Given the description of an element on the screen output the (x, y) to click on. 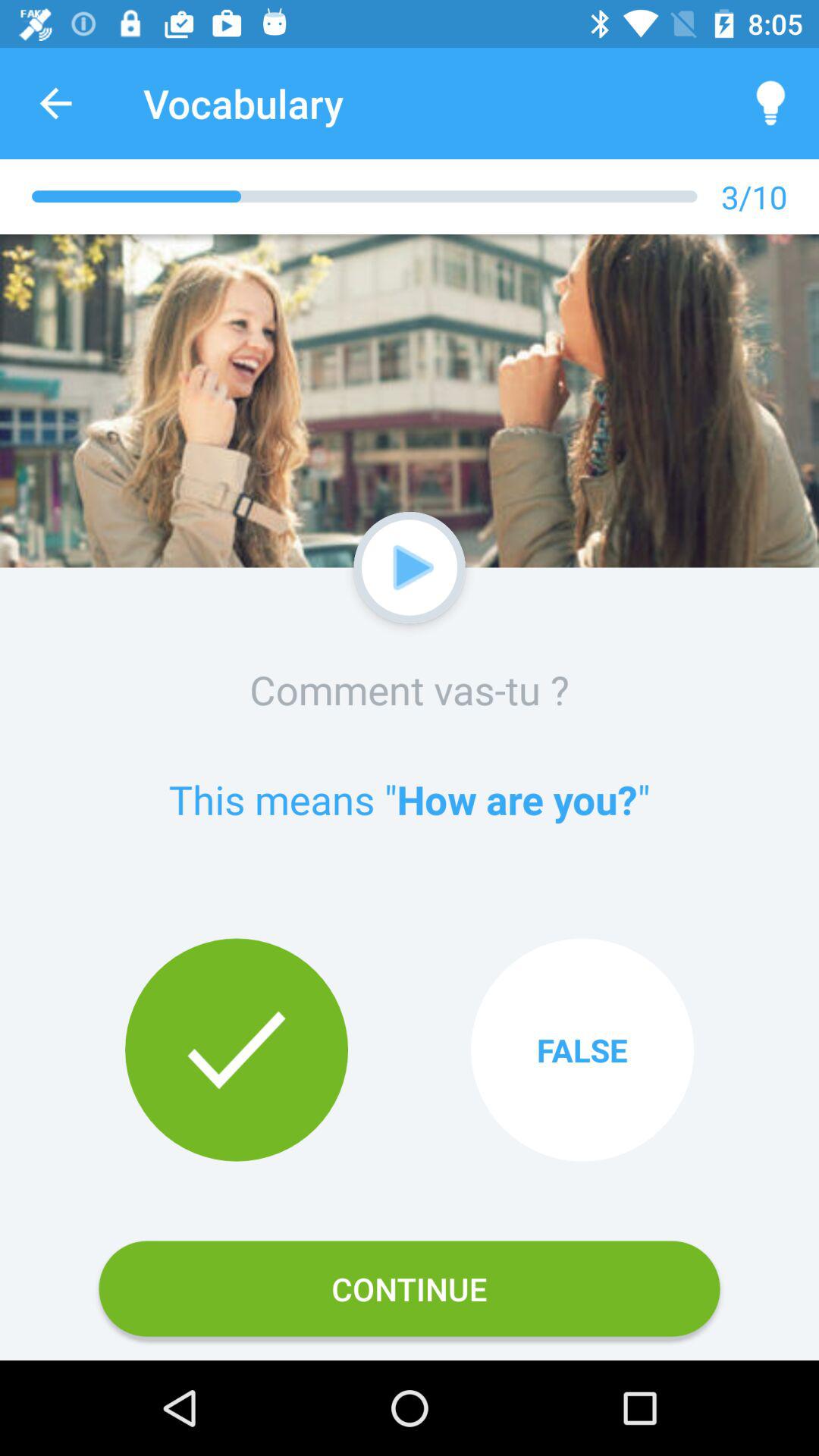
turn off icon above 3/10 (771, 103)
